Given the description of an element on the screen output the (x, y) to click on. 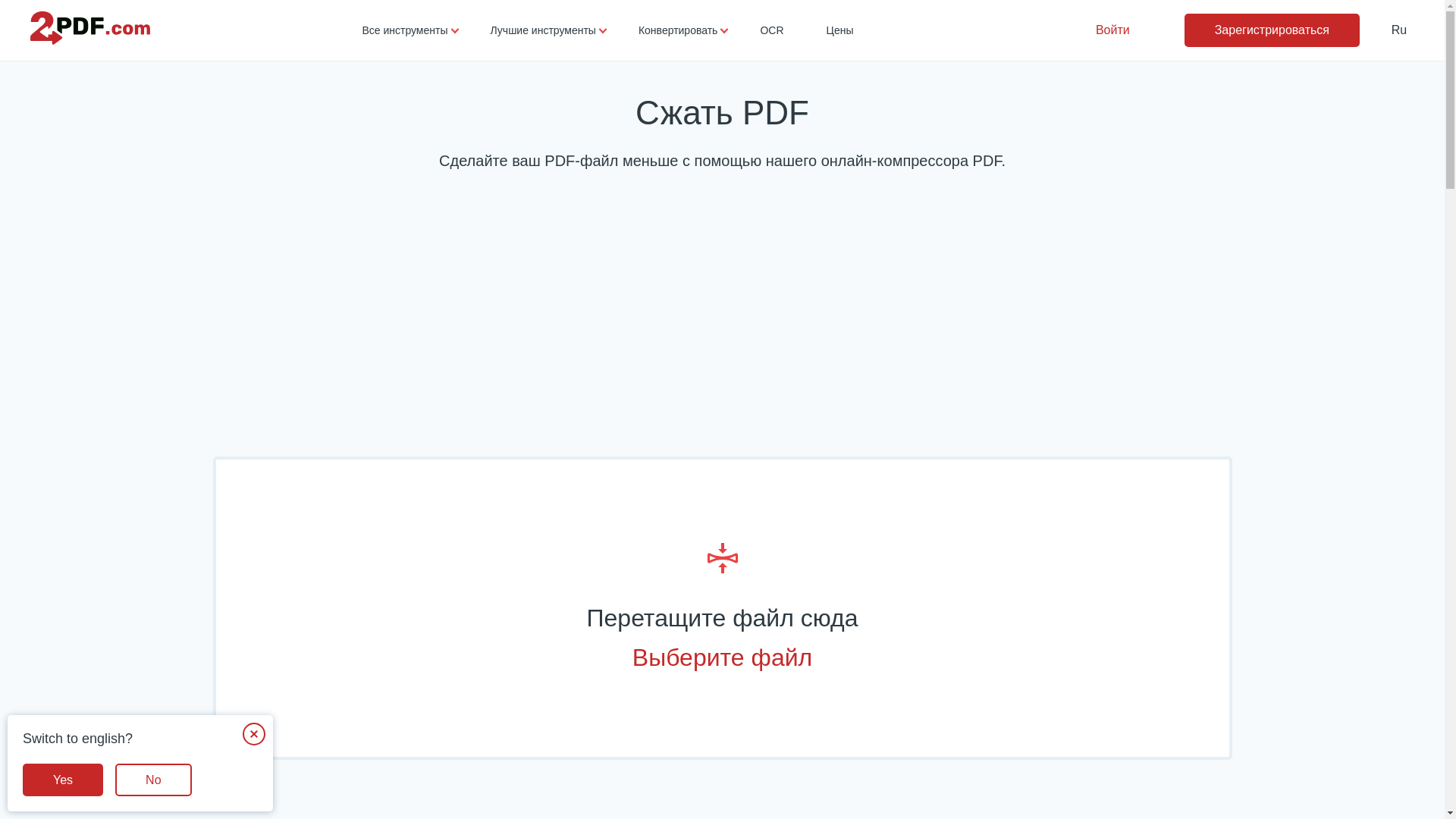
No Element type: text (153, 779)
Yes Element type: text (62, 779)
OCR Element type: text (771, 30)
Close the window Element type: hover (253, 733)
